Given the description of an element on the screen output the (x, y) to click on. 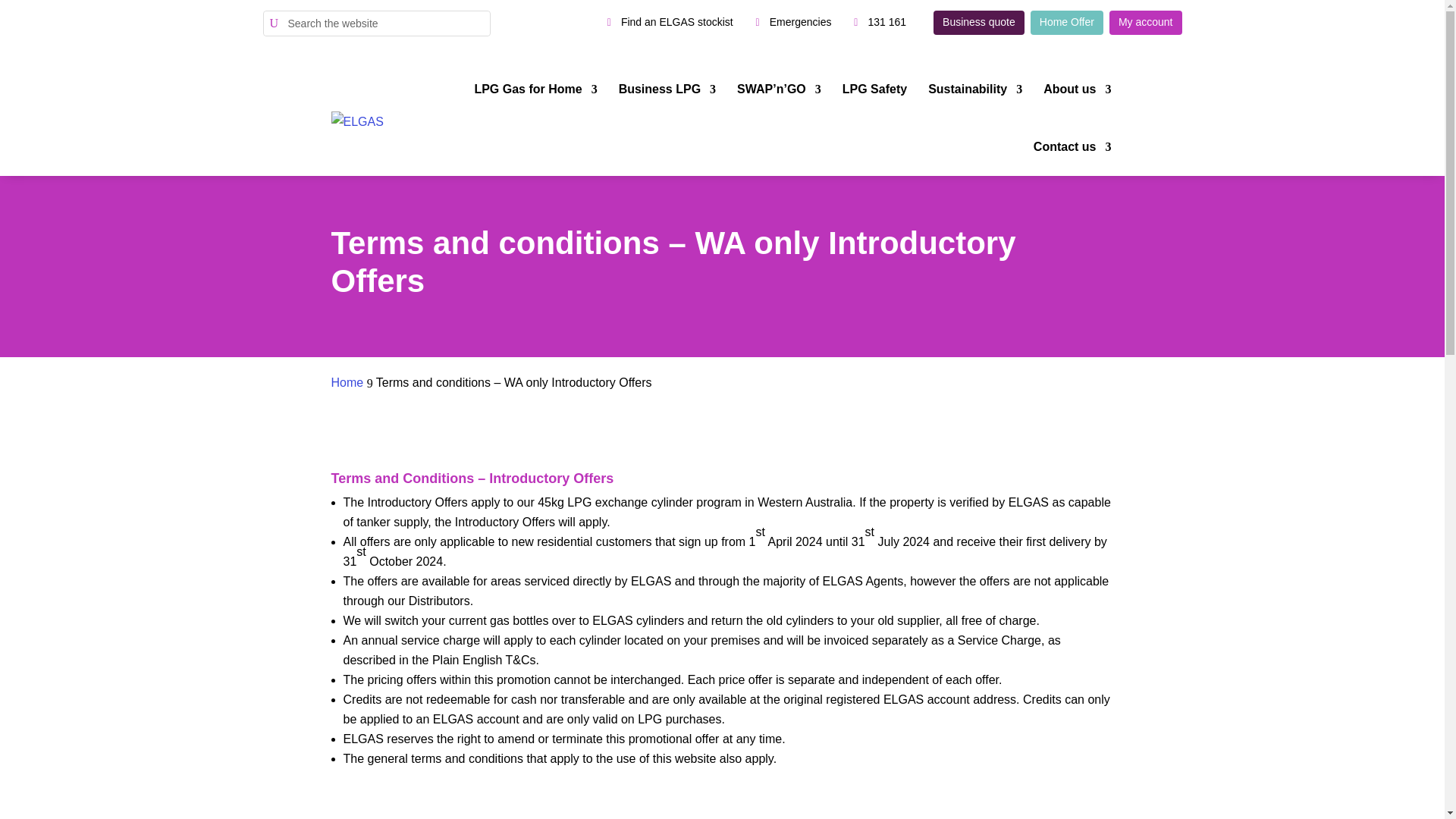
Emergencies (800, 22)
Find an ELGAS stockist (665, 22)
131 161 (887, 22)
LPG Gas for Home (535, 88)
Search (24, 12)
Home Offer (1066, 22)
Business LPG (667, 88)
Business quote (979, 22)
My account (1145, 22)
